Given the description of an element on the screen output the (x, y) to click on. 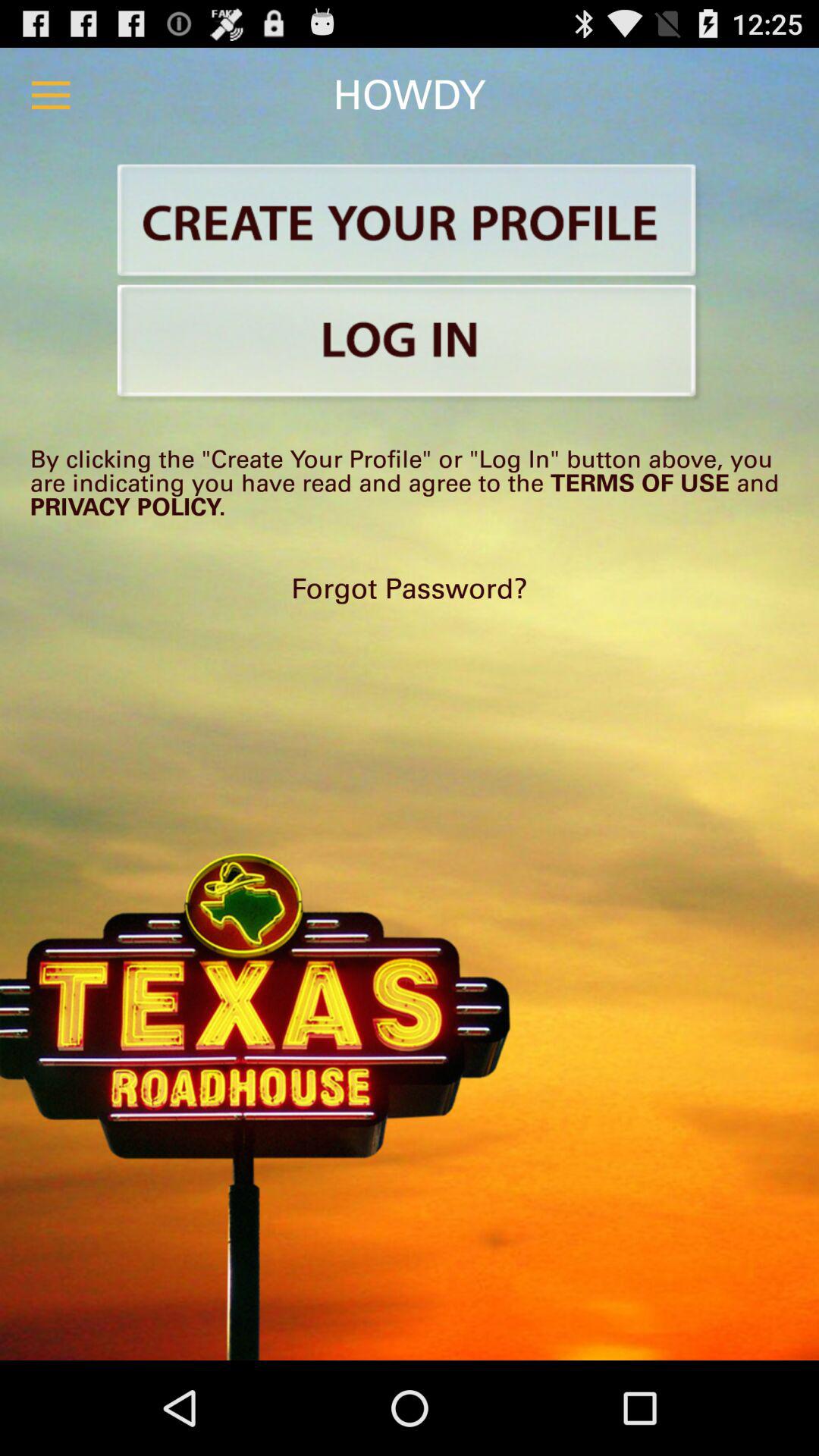
go to create your profile (409, 223)
